Given the description of an element on the screen output the (x, y) to click on. 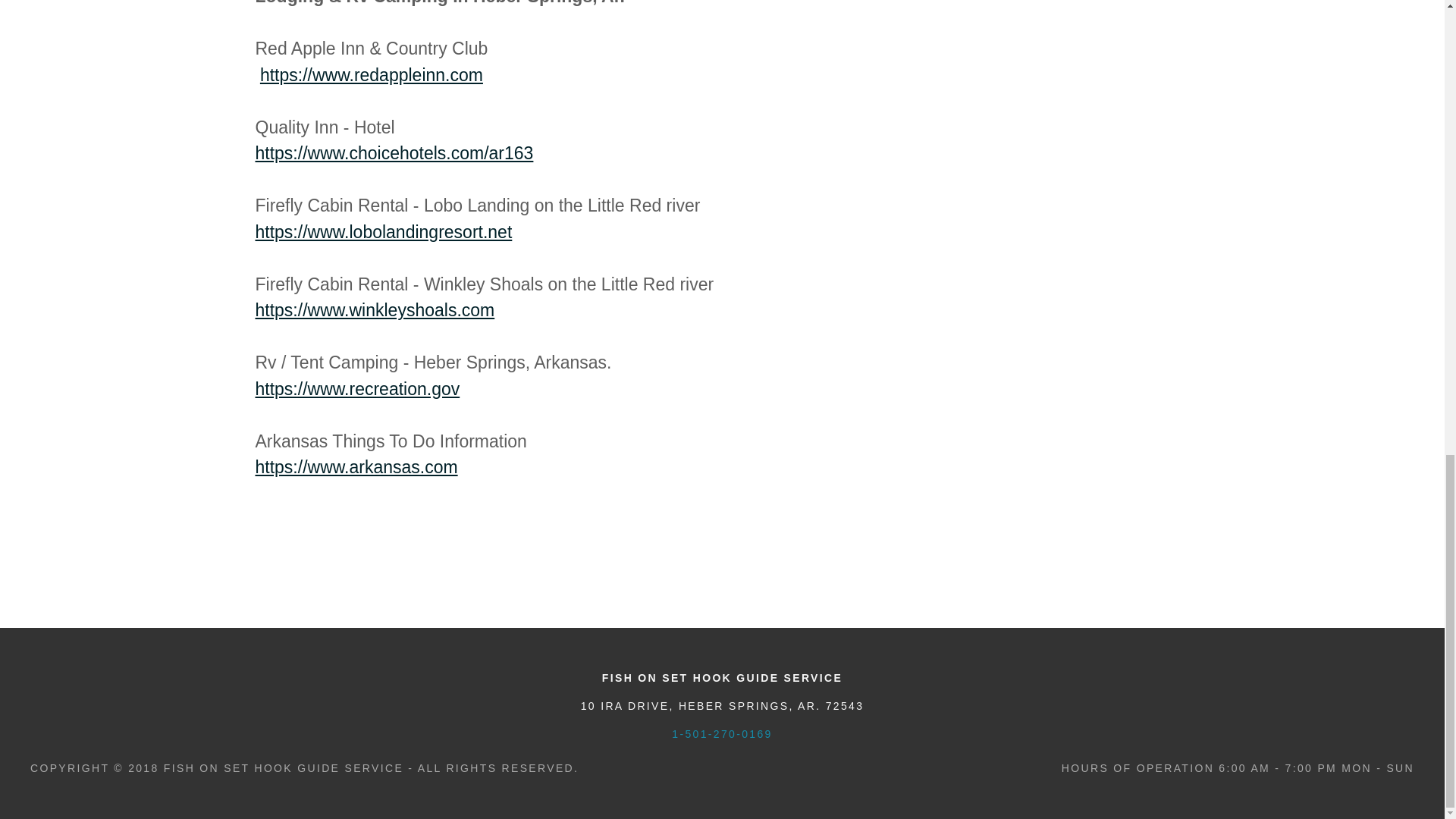
1-501-270-0169 (721, 734)
